Given the description of an element on the screen output the (x, y) to click on. 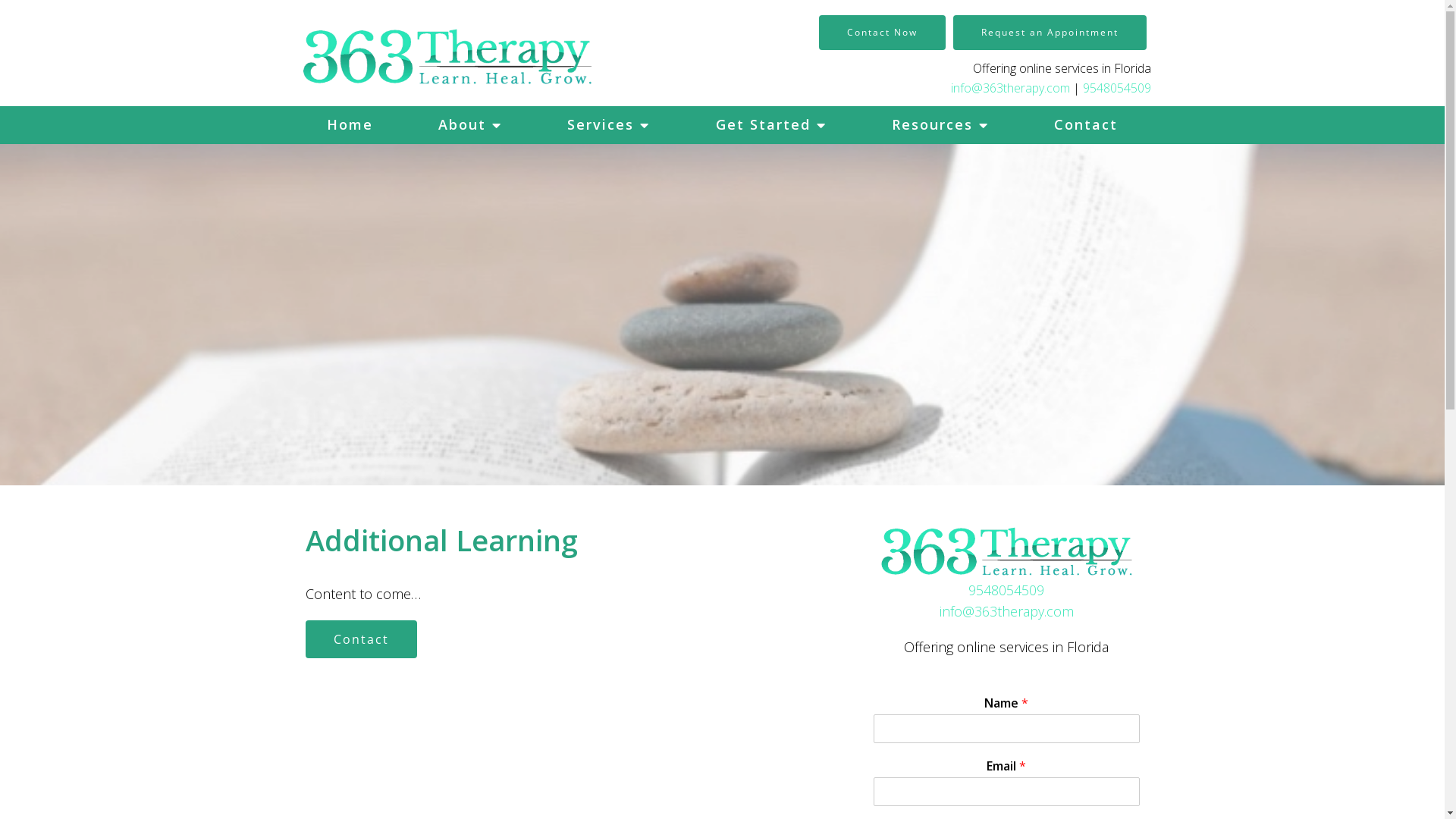
Contact Element type: text (1085, 125)
Resources Element type: text (940, 125)
Home Element type: text (349, 125)
Contact Now Element type: text (882, 32)
info@363therapy.com Element type: text (1006, 611)
info@363therapy.com Element type: text (1010, 87)
Request an Appointment Element type: text (1048, 32)
9548054509 Element type: text (1006, 589)
Get Started Element type: text (770, 125)
Contact Element type: text (360, 639)
Services Element type: text (608, 125)
About Element type: text (469, 125)
9548054509 Element type: text (1116, 87)
